Given the description of an element on the screen output the (x, y) to click on. 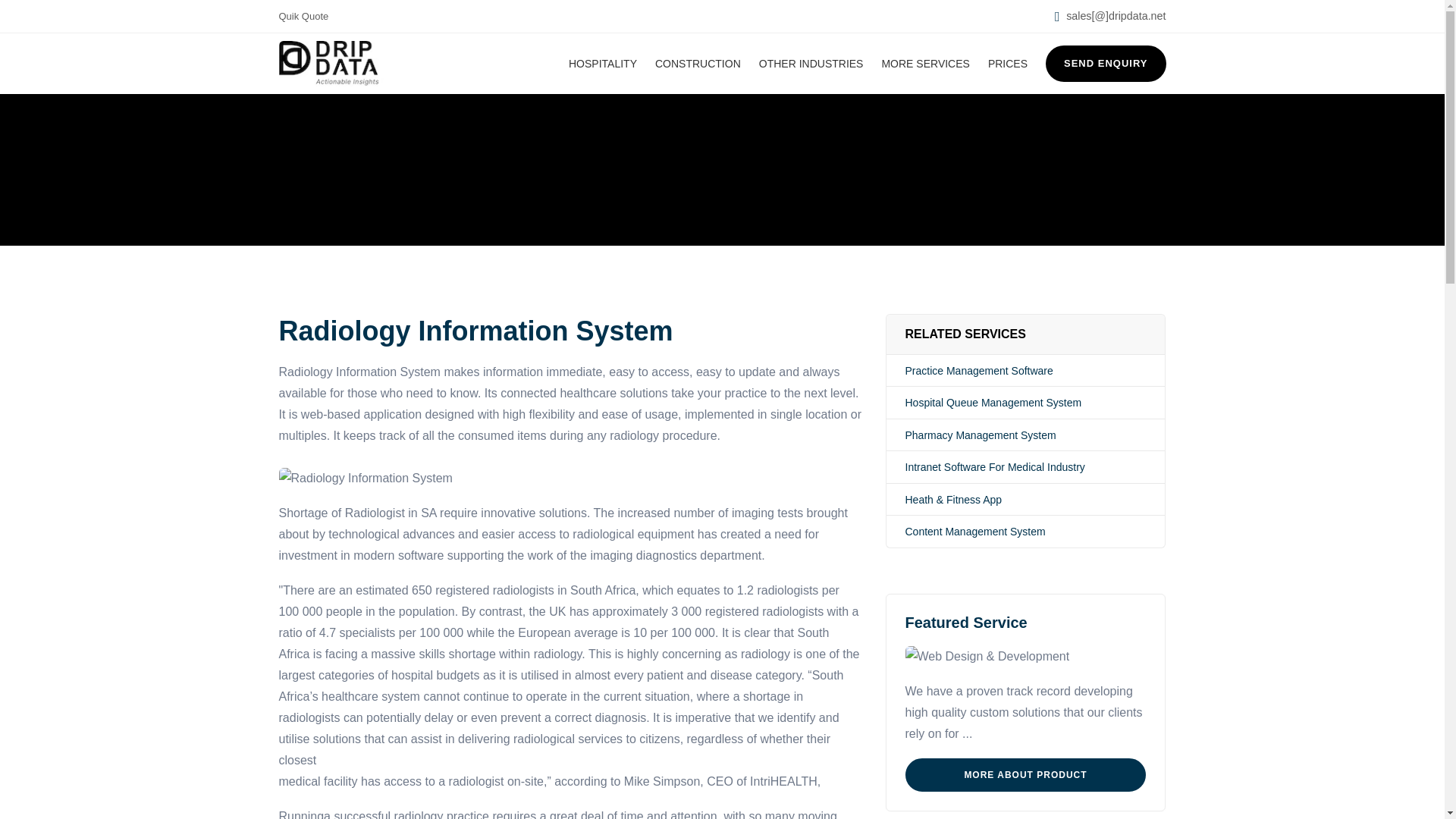
Quik Quote (303, 16)
MORE SERVICES (925, 63)
HOSPITALITY (602, 63)
CONSTRUCTION (697, 63)
OTHER INDUSTRIES (810, 63)
